Given the description of an element on the screen output the (x, y) to click on. 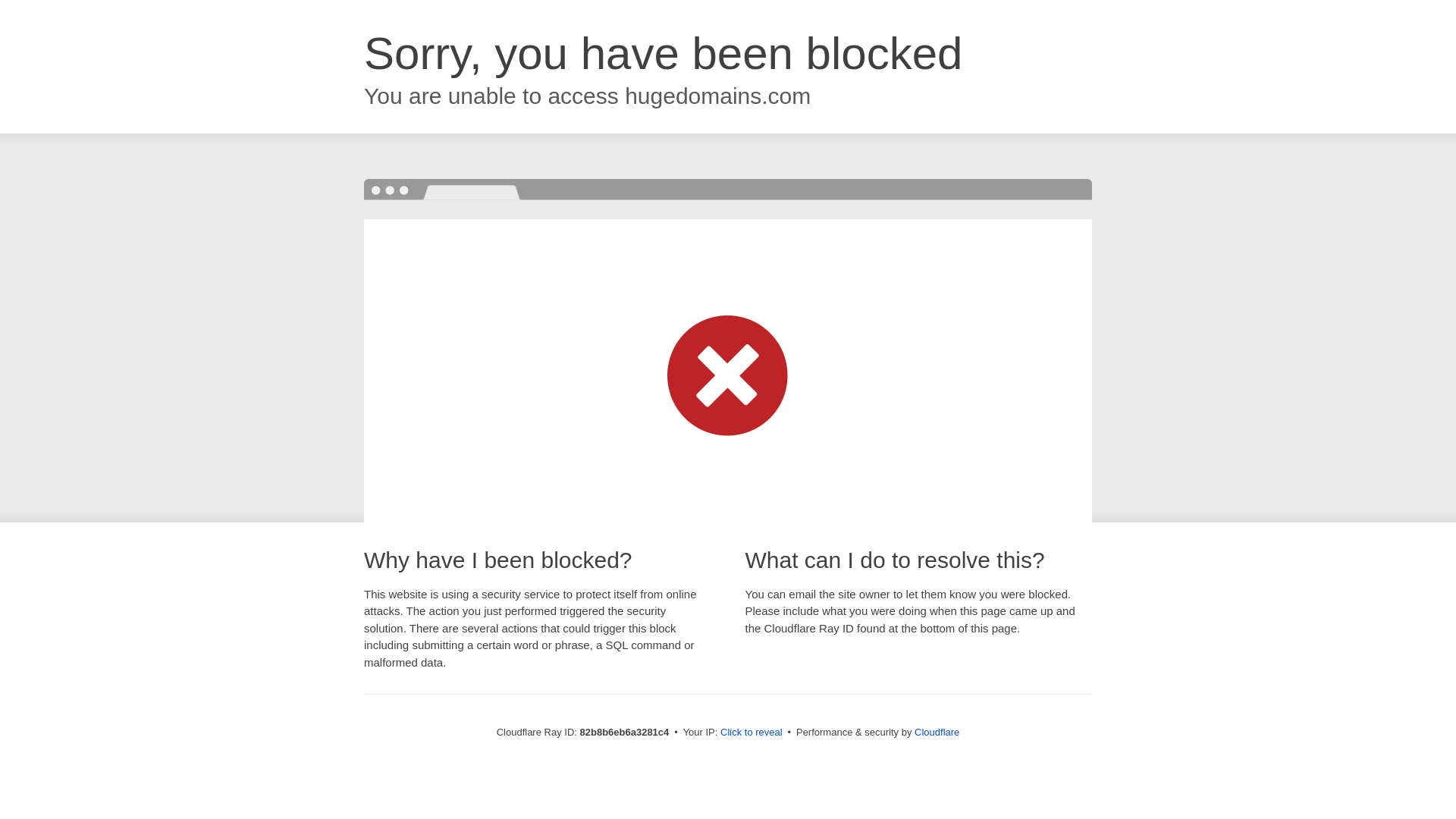
Click to reveal Element type: text (751, 732)
Cloudflare Element type: text (936, 731)
